Given the description of an element on the screen output the (x, y) to click on. 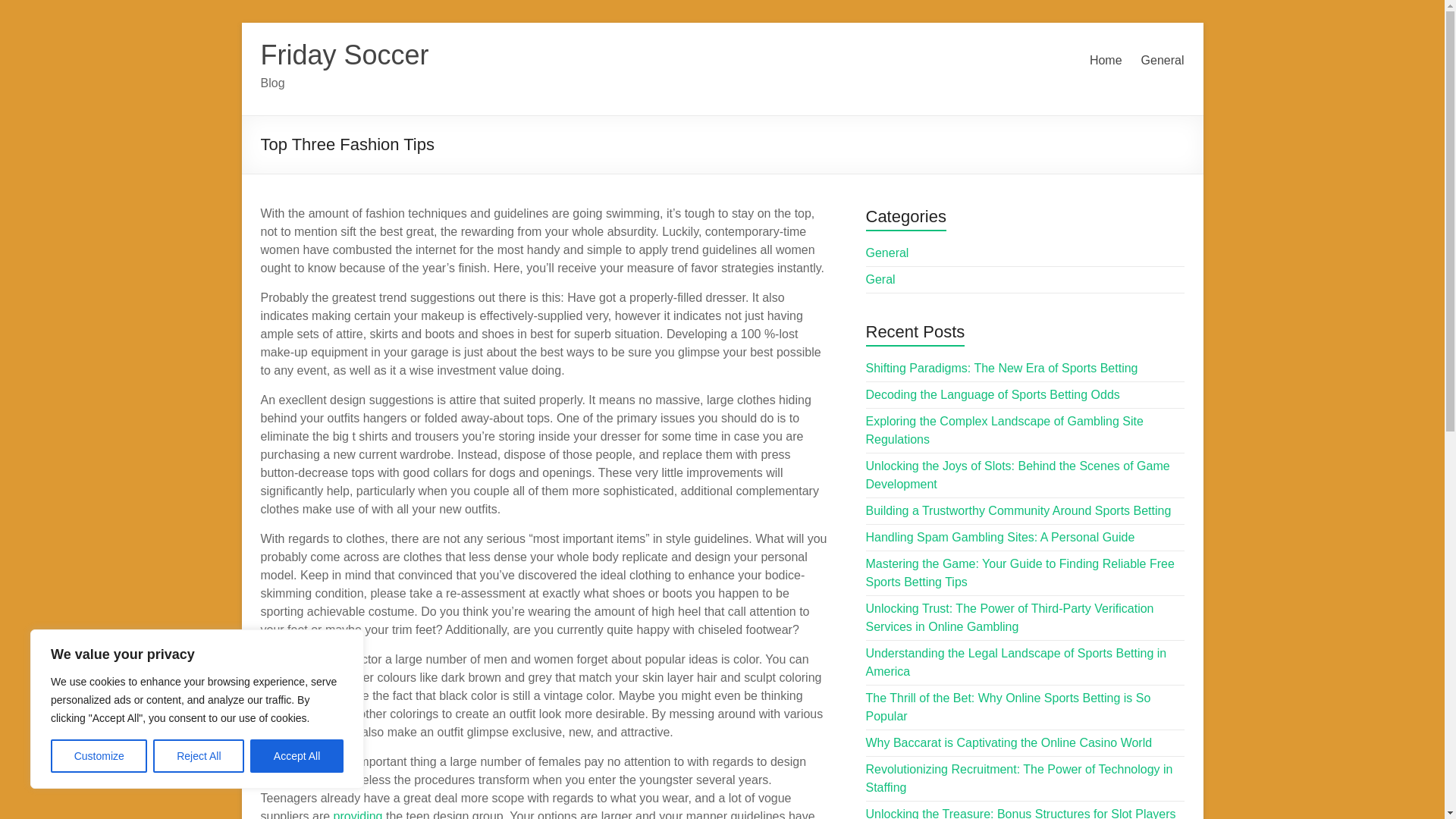
Home (1105, 60)
Customize (98, 756)
Friday Soccer (344, 54)
Shifting Paradigms: The New Era of Sports Betting (1002, 367)
General (1163, 60)
Accept All (296, 756)
General (887, 252)
providing (357, 814)
Exploring the Complex Landscape of Gambling Site Regulations (1004, 429)
